Given the description of an element on the screen output the (x, y) to click on. 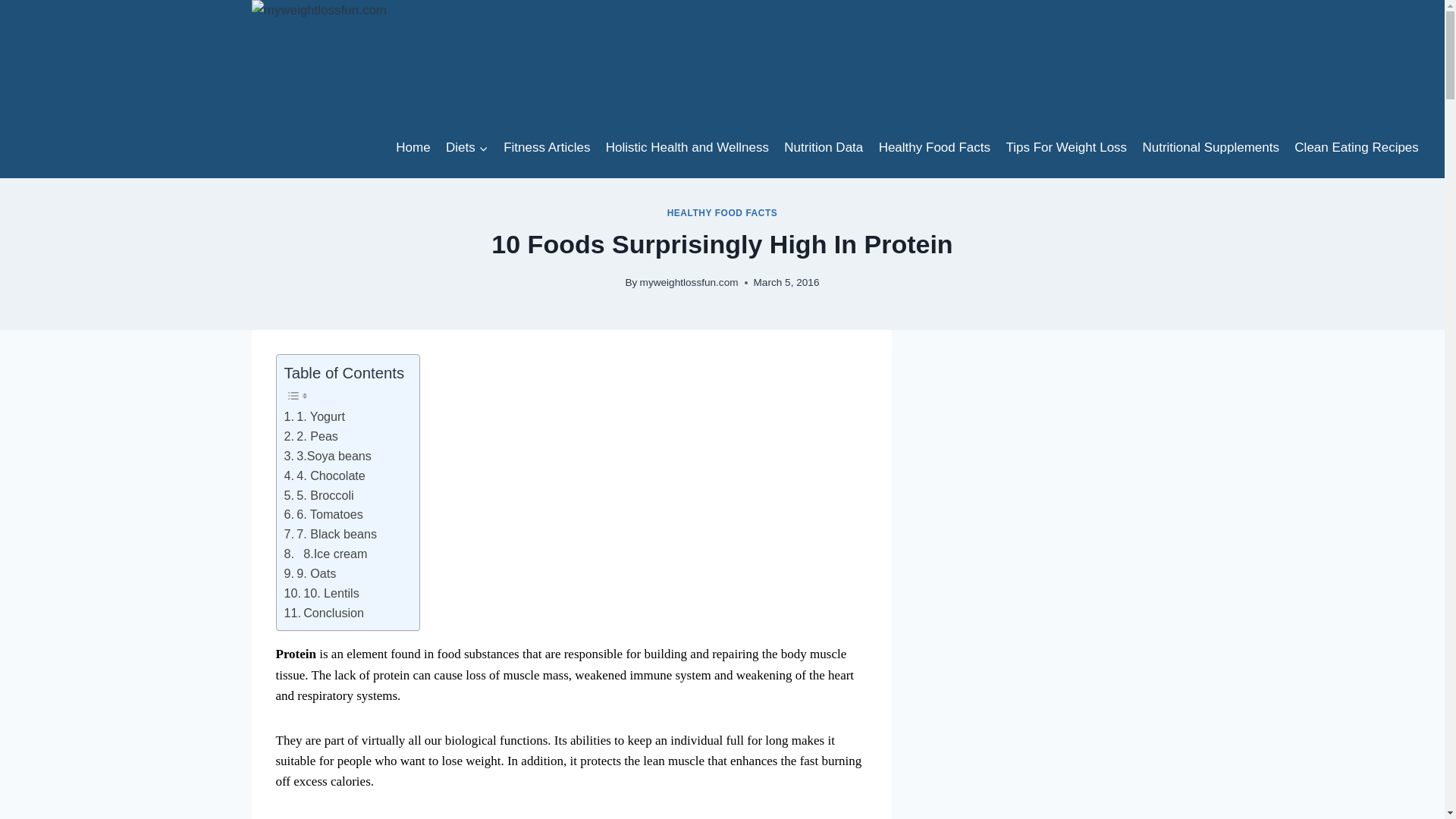
7. Black beans (330, 534)
6. Tomatoes (322, 514)
5. Broccoli (318, 495)
Holistic Health and Wellness (687, 147)
  8.Ice cream (324, 554)
1. Yogurt (313, 416)
1. Yogurt (313, 416)
3.Soya beans (327, 456)
Fitness Articles (547, 147)
HEALTHY FOOD FACTS (721, 213)
